Given the description of an element on the screen output the (x, y) to click on. 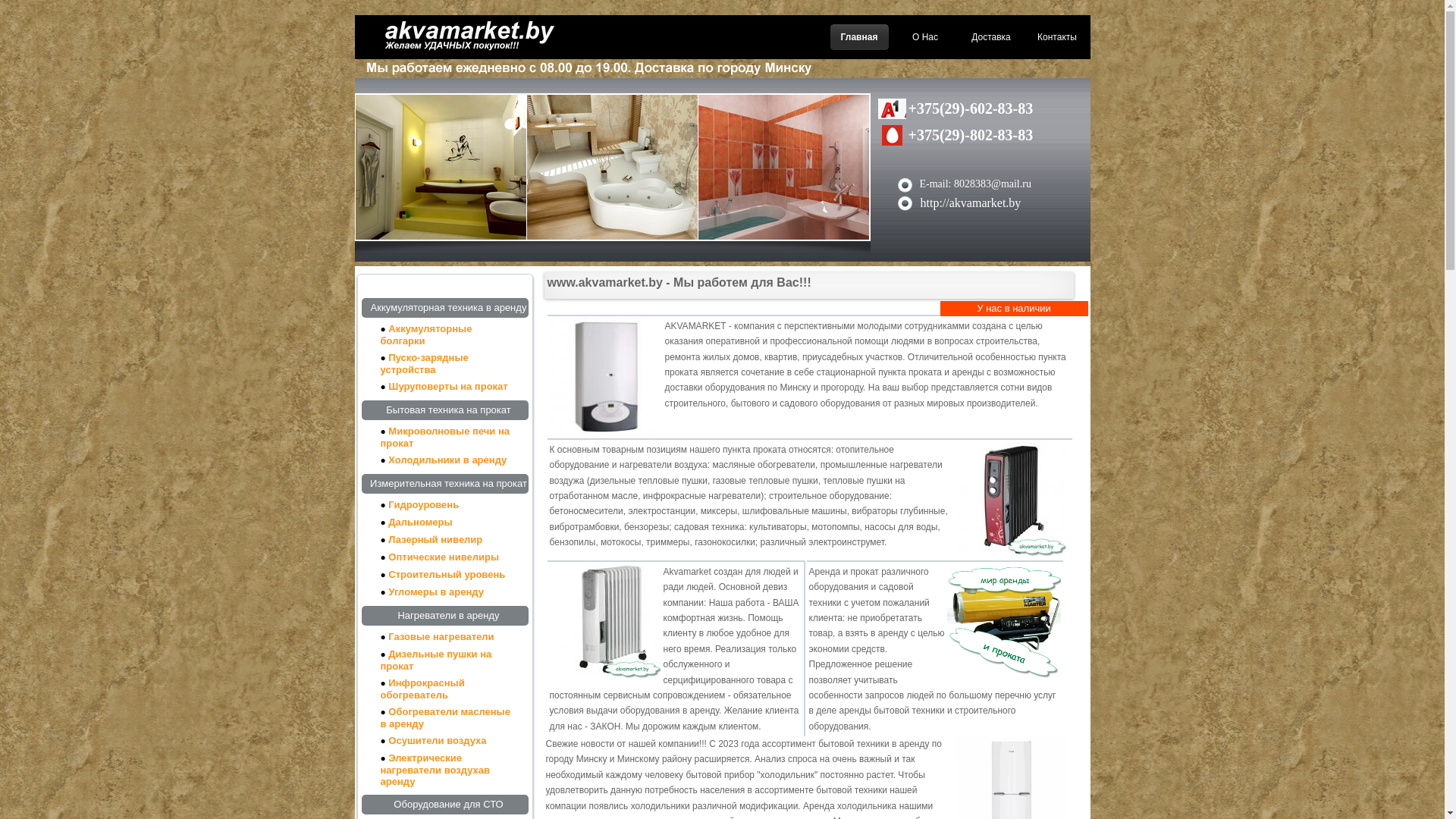
akvamarket.by Element type: hover (475, 45)
